Given the description of an element on the screen output the (x, y) to click on. 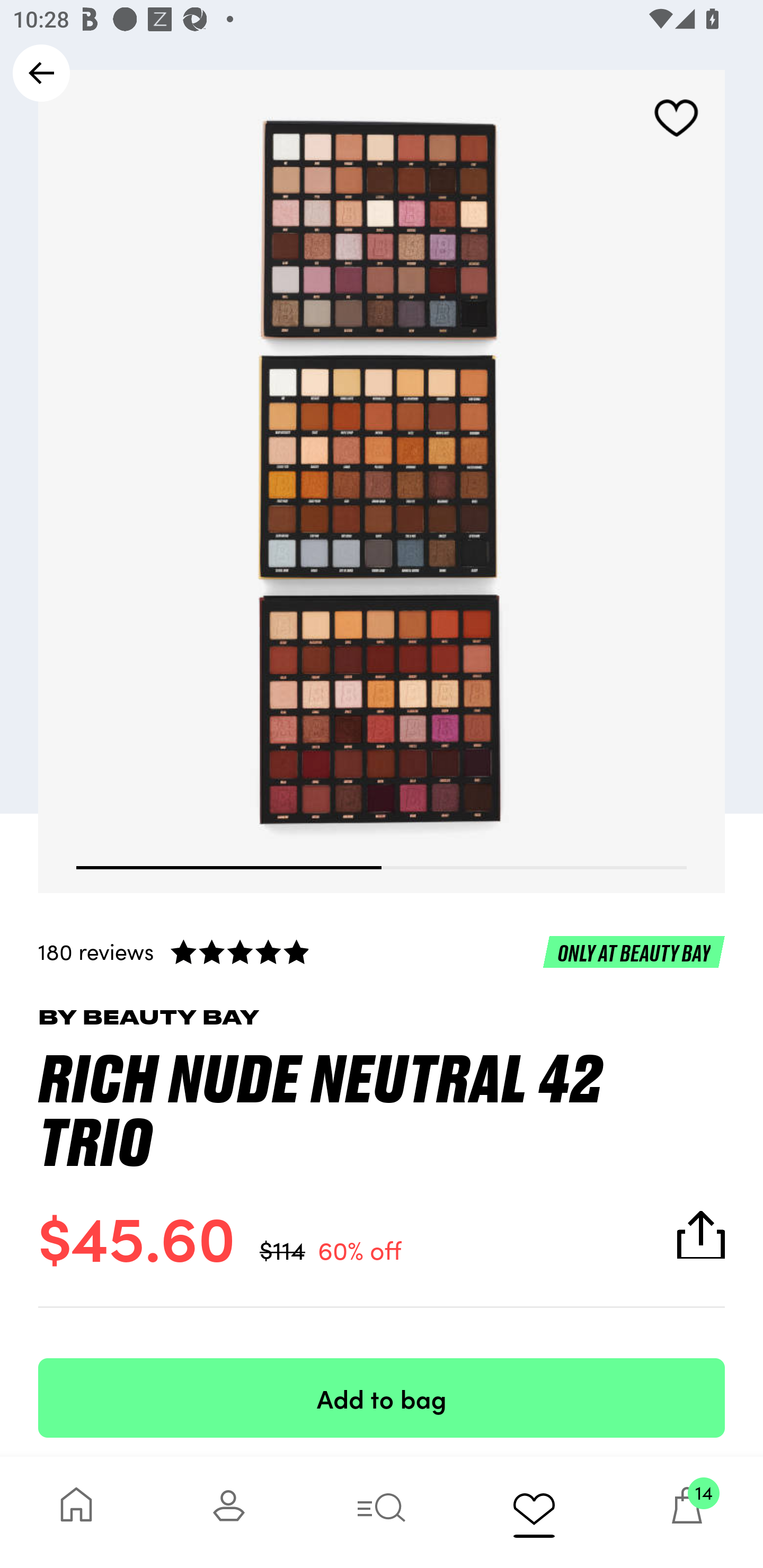
180 reviews (381, 950)
Add to bag (381, 1397)
14 (686, 1512)
